Given the description of an element on the screen output the (x, y) to click on. 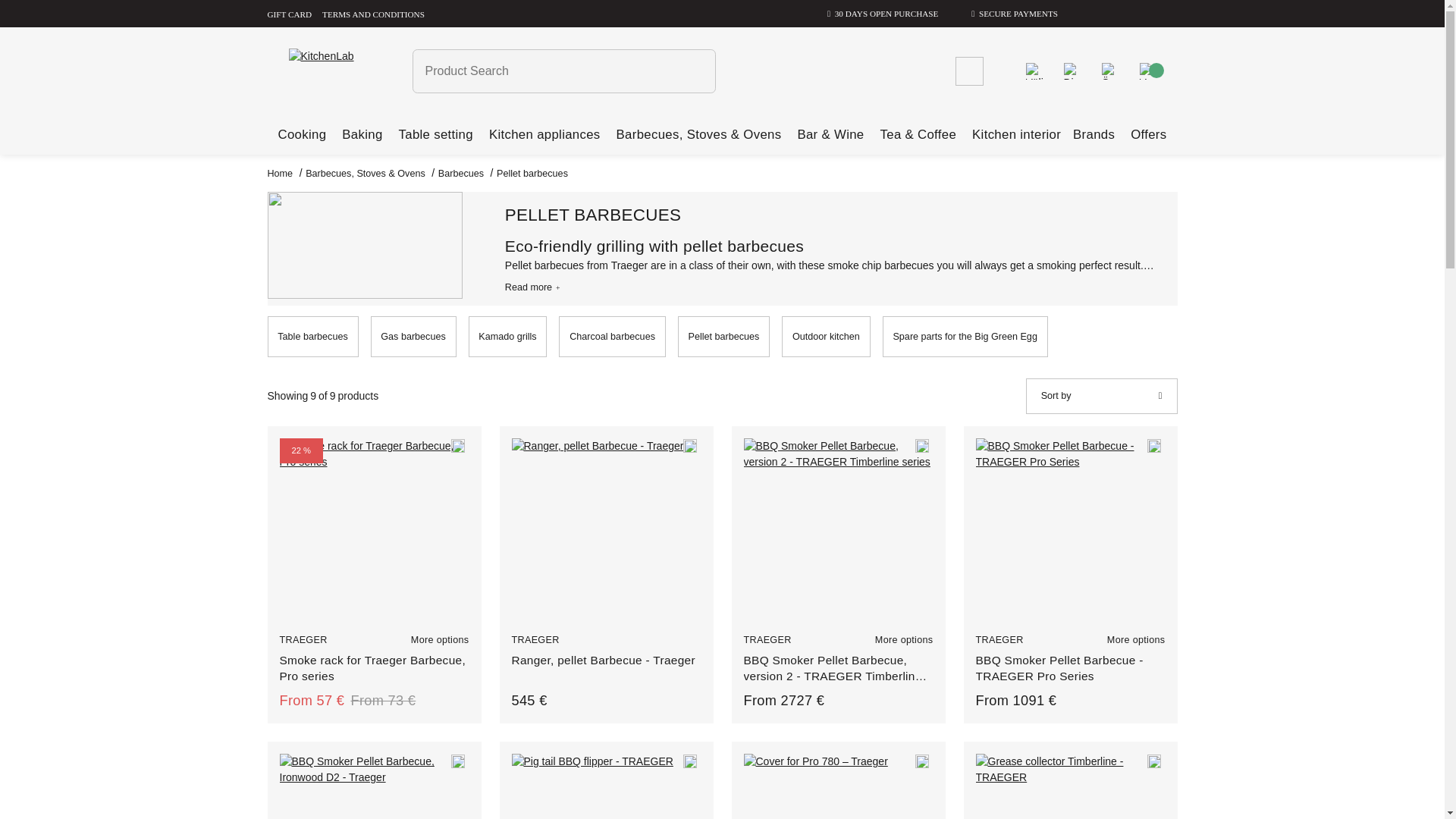
TERMS AND CONDITIONS (373, 13)
Varukorg (1147, 70)
Cooking (302, 134)
Brands (1094, 134)
Cooking (302, 134)
GIFT CARD (288, 13)
Din sida (1071, 70)
